Given the description of an element on the screen output the (x, y) to click on. 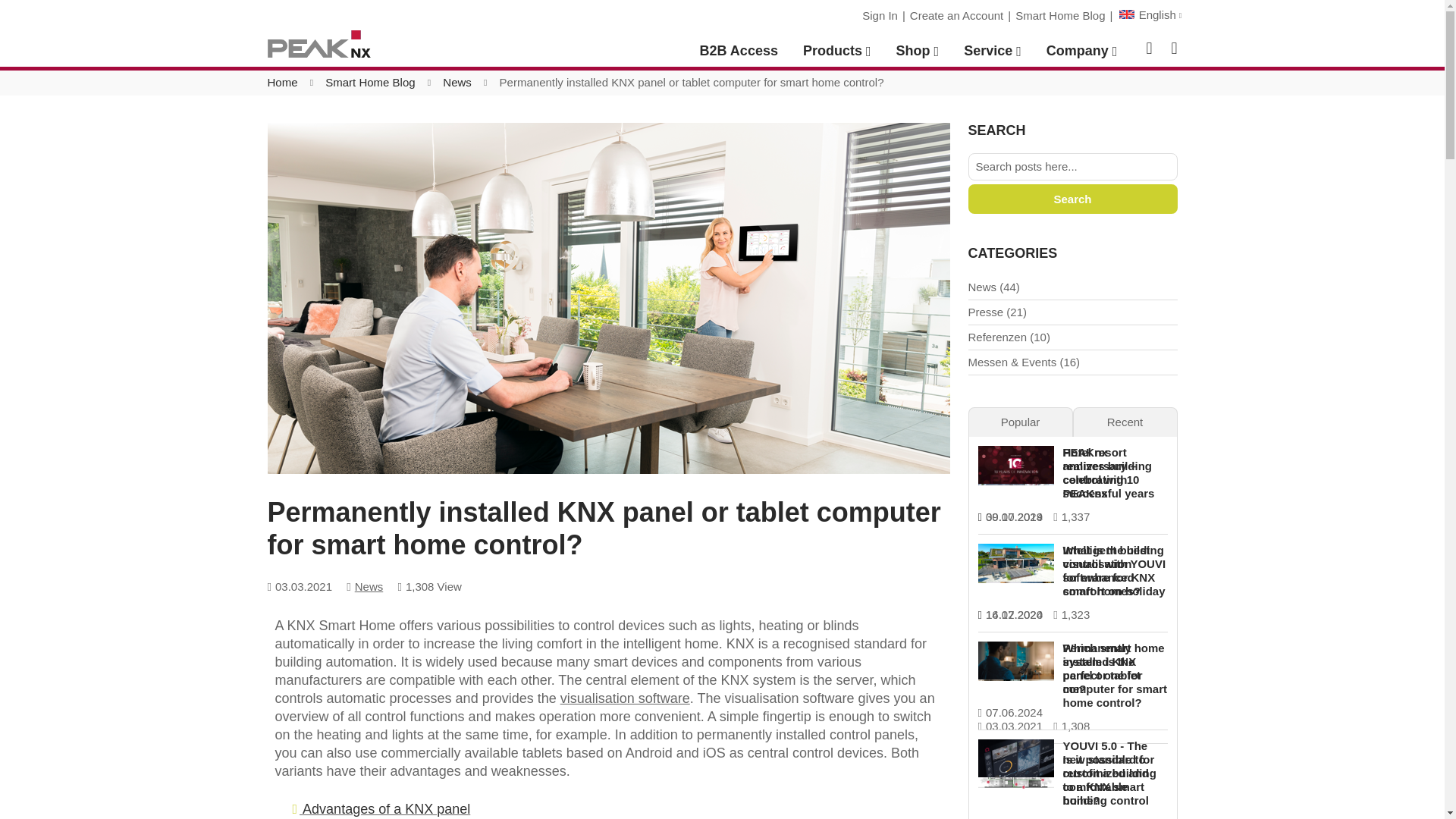
PEAKnx: hardware and software for KNX building automation (317, 43)
Create an Account (956, 15)
Smart Home Blog (1059, 15)
Products (837, 51)
B2B Access (738, 51)
Go to Home Page (281, 82)
Hotel resort realizes building control with PEAKnx (1107, 472)
Smart Home Blog (369, 82)
Sign In (879, 15)
Shop (917, 51)
